Given the description of an element on the screen output the (x, y) to click on. 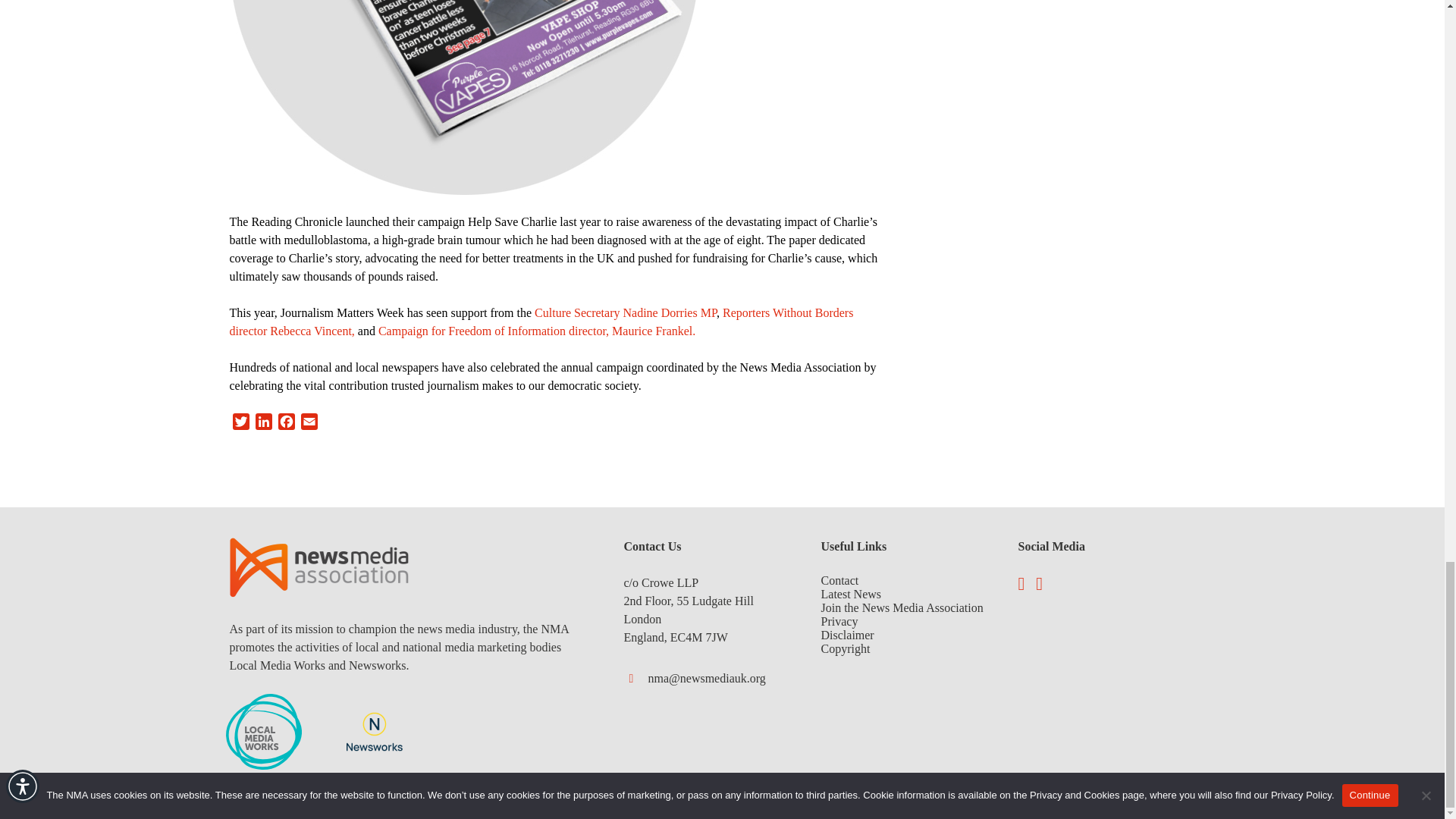
Culture Secretary Nadine Dorries MP (625, 312)
Facebook (286, 423)
Twitter (239, 423)
Email (308, 423)
Email (308, 423)
LinkedIn (263, 423)
LinkedIn (263, 423)
Facebook (286, 423)
Reporters Without Borders director Rebecca Vincent, (540, 321)
